Given the description of an element on the screen output the (x, y) to click on. 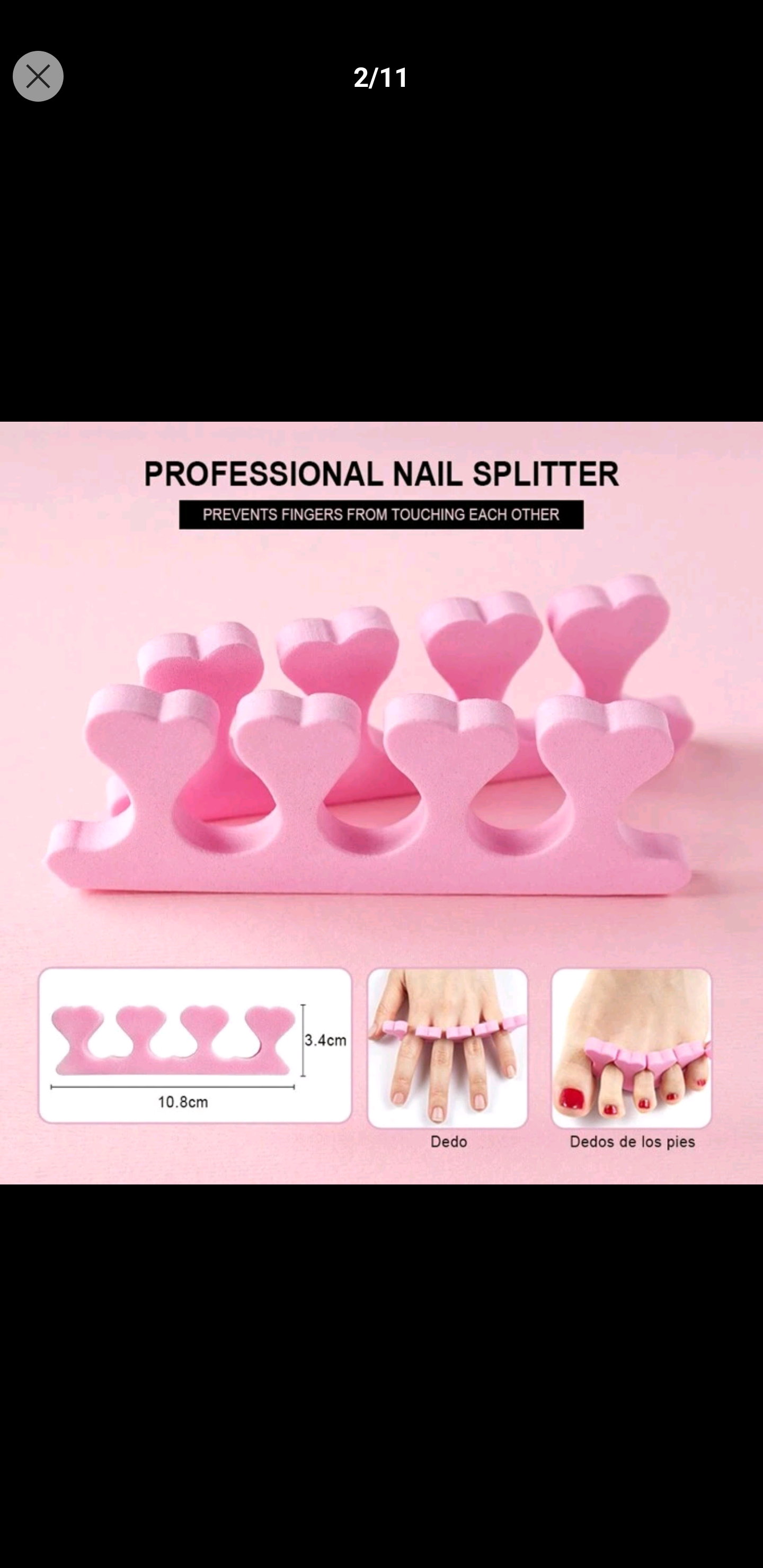
BACK (38, 75)
